Given the description of an element on the screen output the (x, y) to click on. 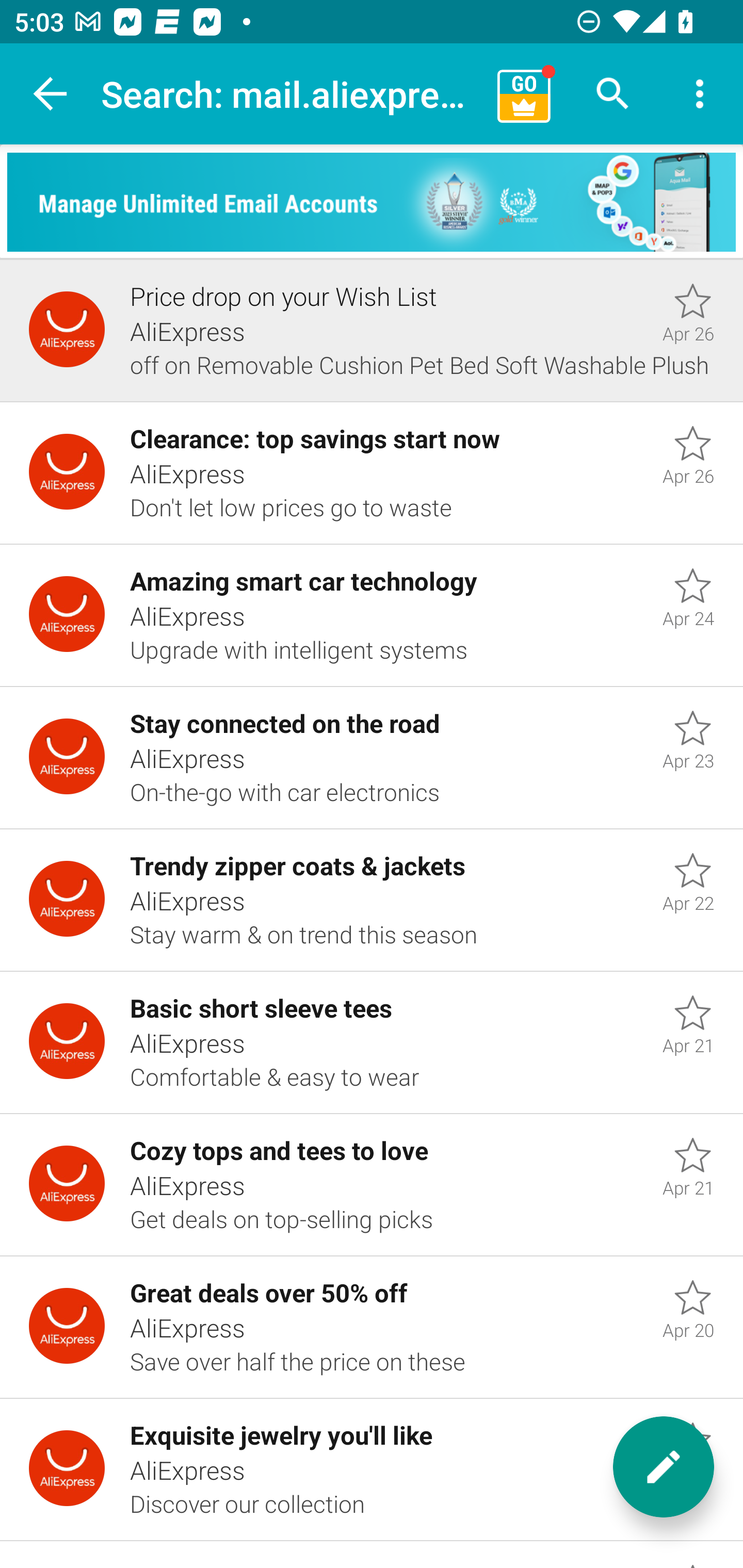
Navigate up (50, 93)
Search (612, 93)
More options (699, 93)
New message (663, 1466)
